Given the description of an element on the screen output the (x, y) to click on. 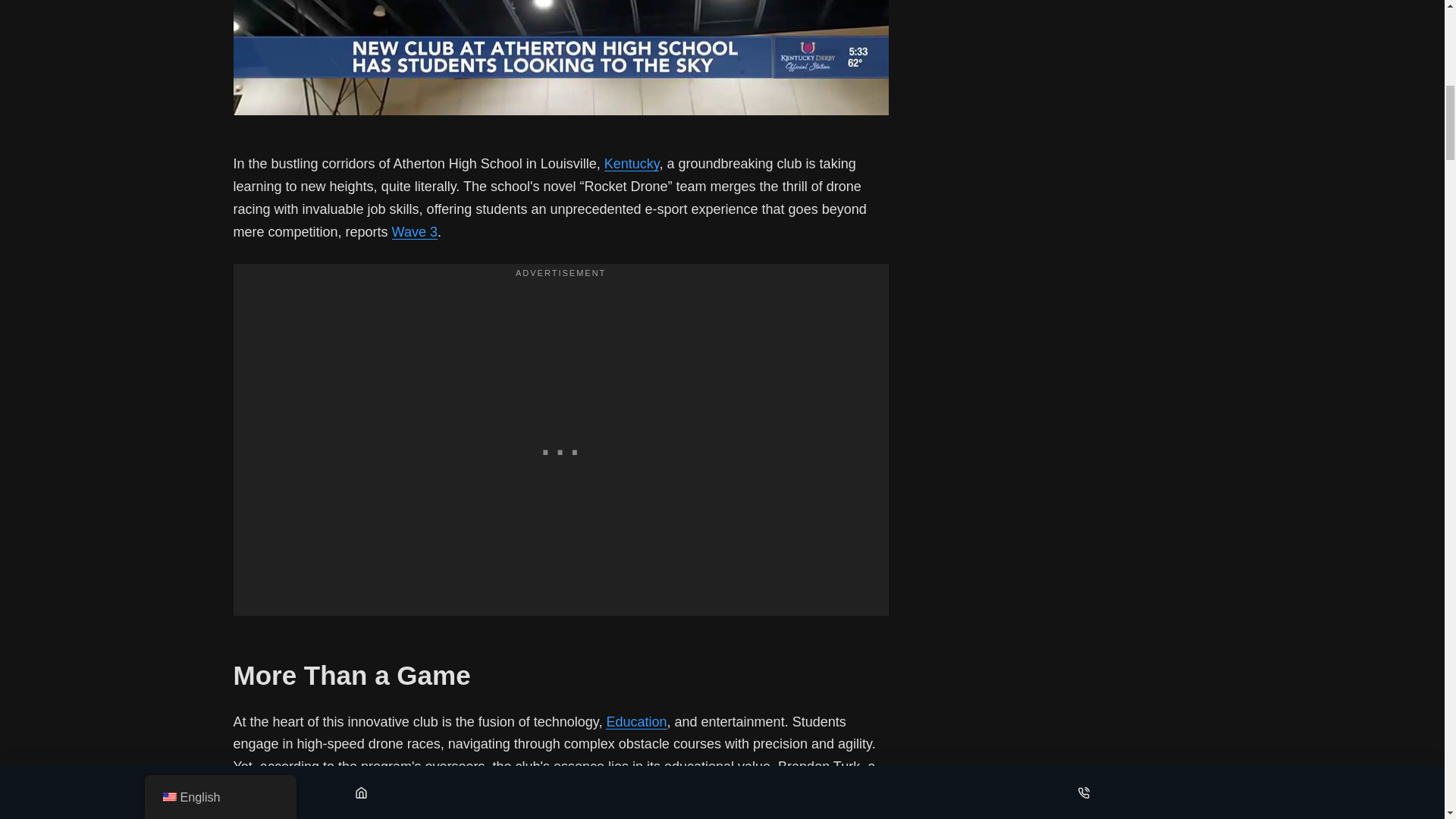
Pilot Institute (303, 789)
Posts in the category Education (635, 721)
